Given the description of an element on the screen output the (x, y) to click on. 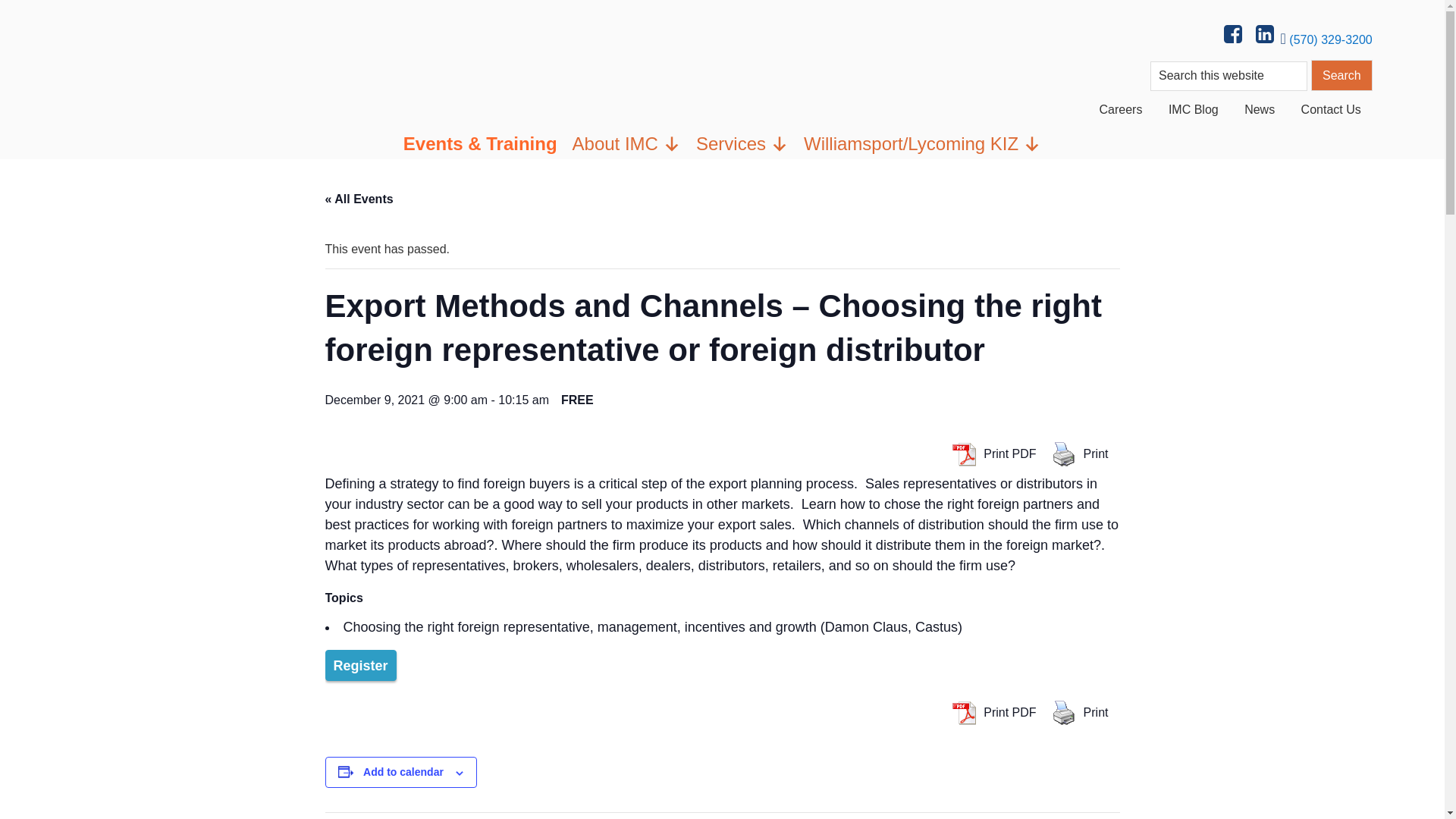
View PDF (963, 454)
About IMC (626, 143)
Search (1342, 74)
Contact Us (1331, 109)
Innovative Manufacturers' Center (113, 42)
News (1259, 109)
Search (1342, 74)
View PDF (963, 712)
Print Content (1064, 454)
